Given the description of an element on the screen output the (x, y) to click on. 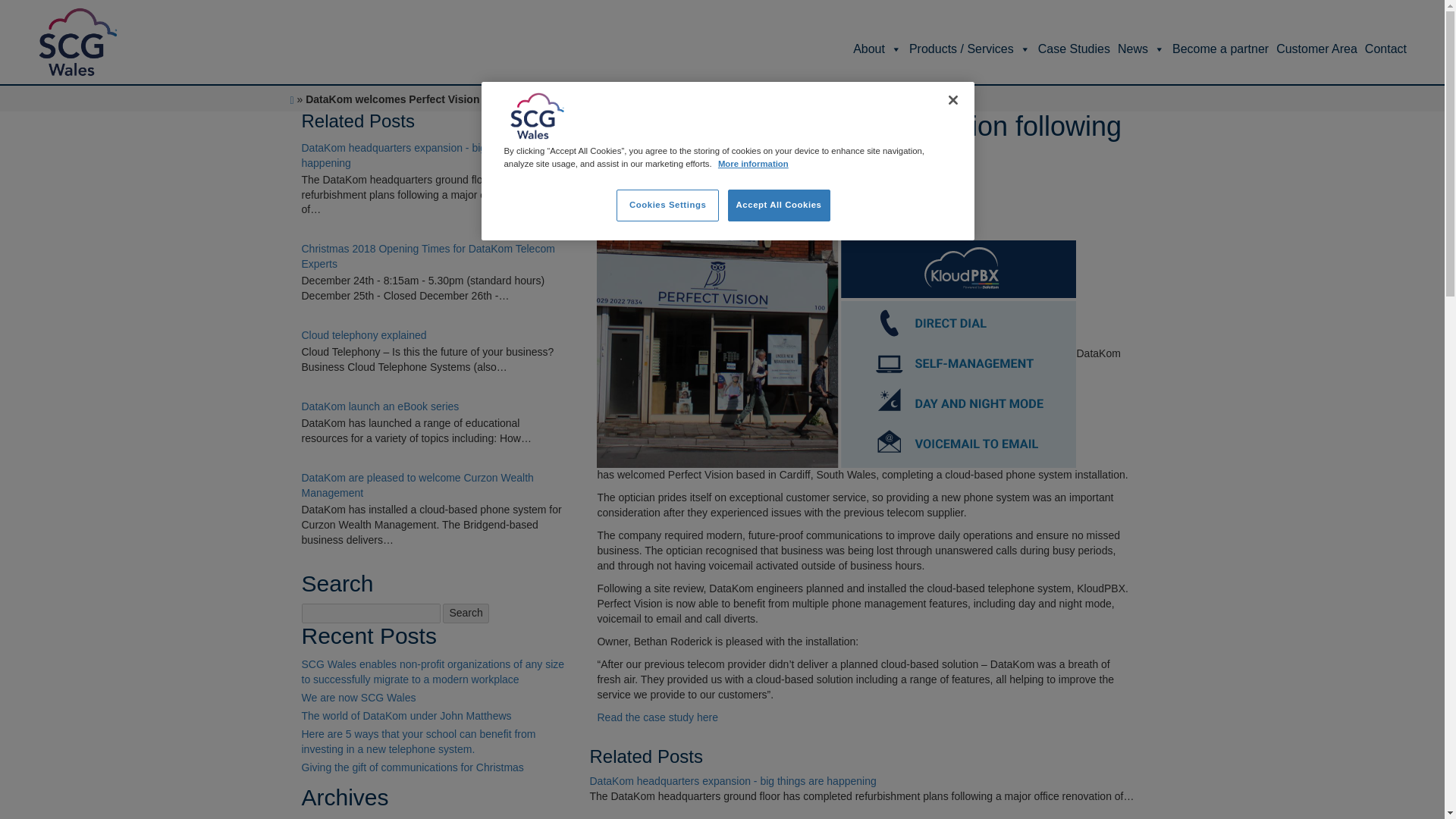
News (1136, 49)
About (873, 49)
SCG Wales (538, 115)
Case Studies (1069, 49)
Search (464, 613)
